Given the description of an element on the screen output the (x, y) to click on. 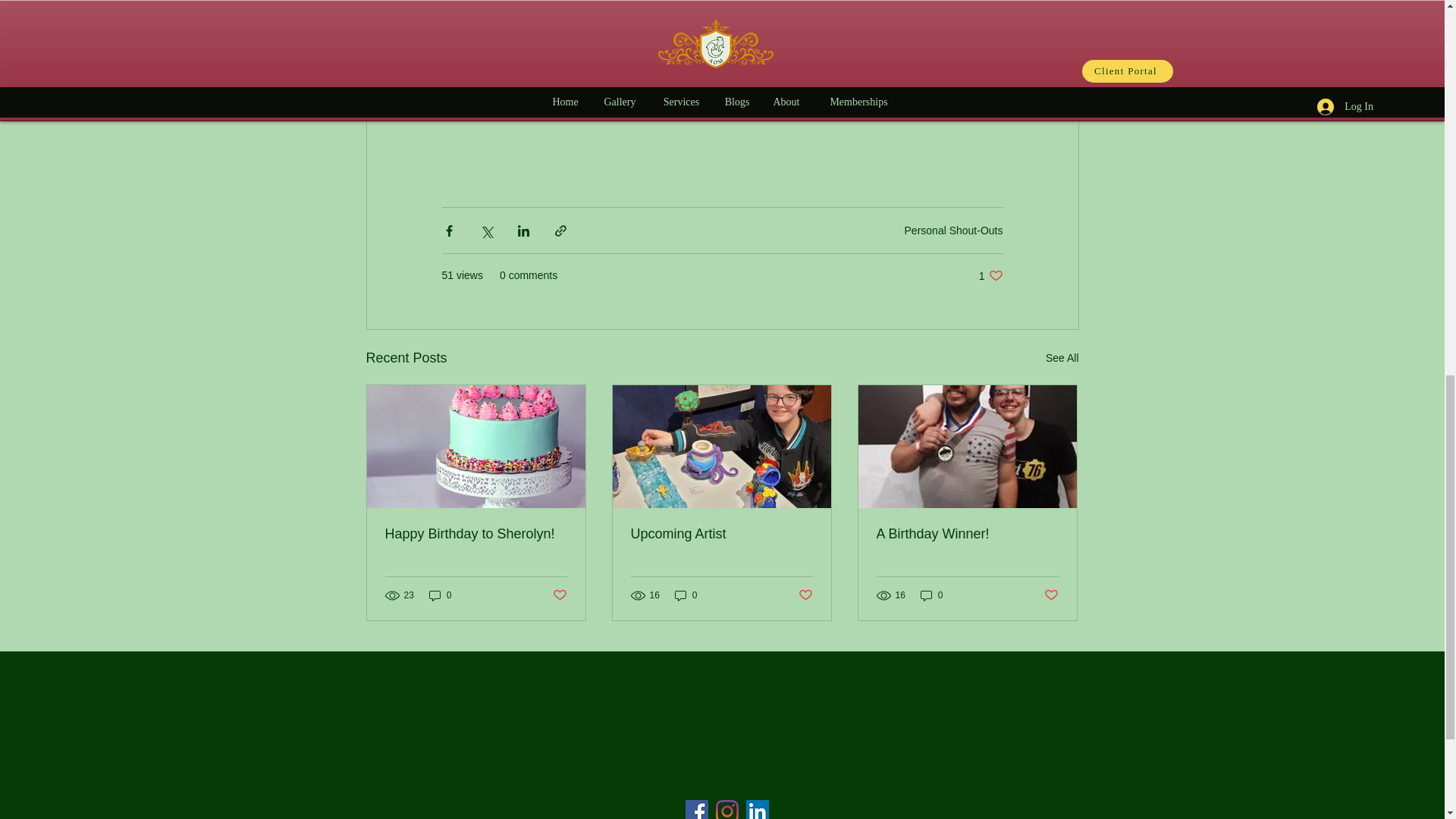
0 (685, 595)
Personal Shout-Outs (953, 230)
A Birthday Winner! (967, 534)
0 (440, 595)
Happy Birthday to Sherolyn! (476, 534)
Post not marked as liked (558, 594)
0 (931, 595)
Post not marked as liked (990, 275)
Upcoming Artist (804, 594)
